Given the description of an element on the screen output the (x, y) to click on. 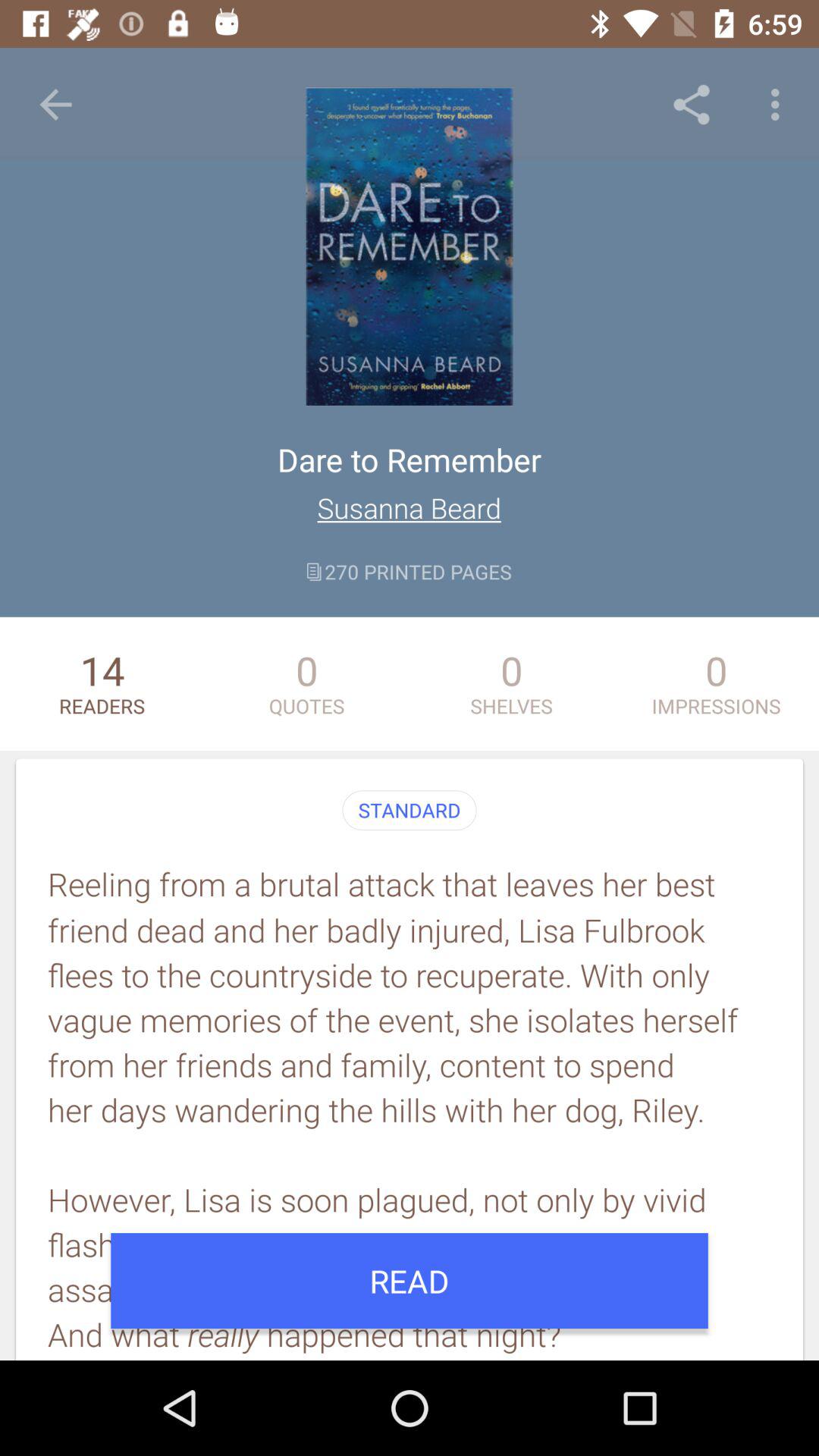
choose icon above impressions (779, 104)
